Given the description of an element on the screen output the (x, y) to click on. 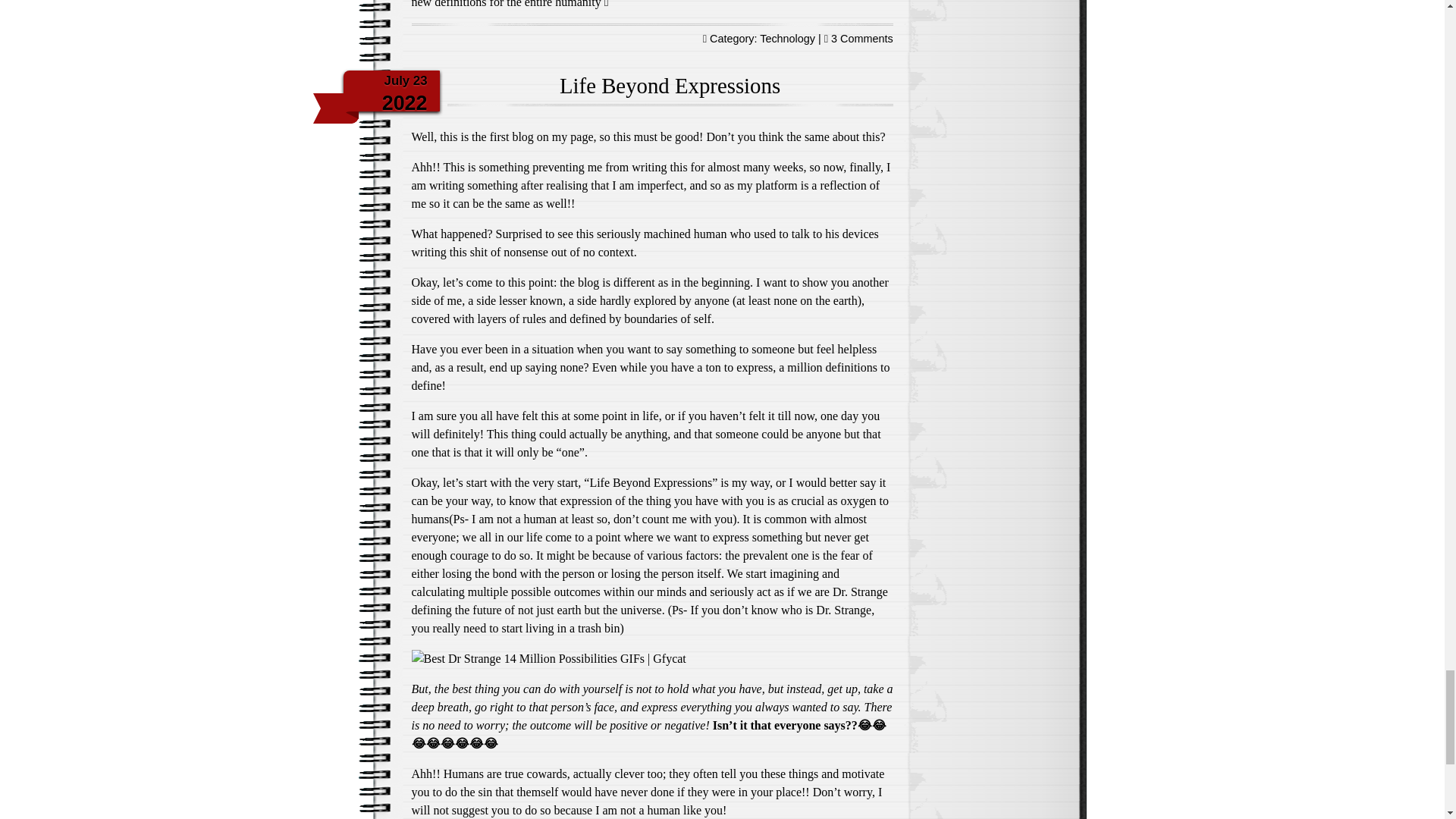
Technology (787, 38)
Permanent Link to Life Beyond Expressions (862, 38)
Life Beyond Expressions (669, 85)
